Given the description of an element on the screen output the (x, y) to click on. 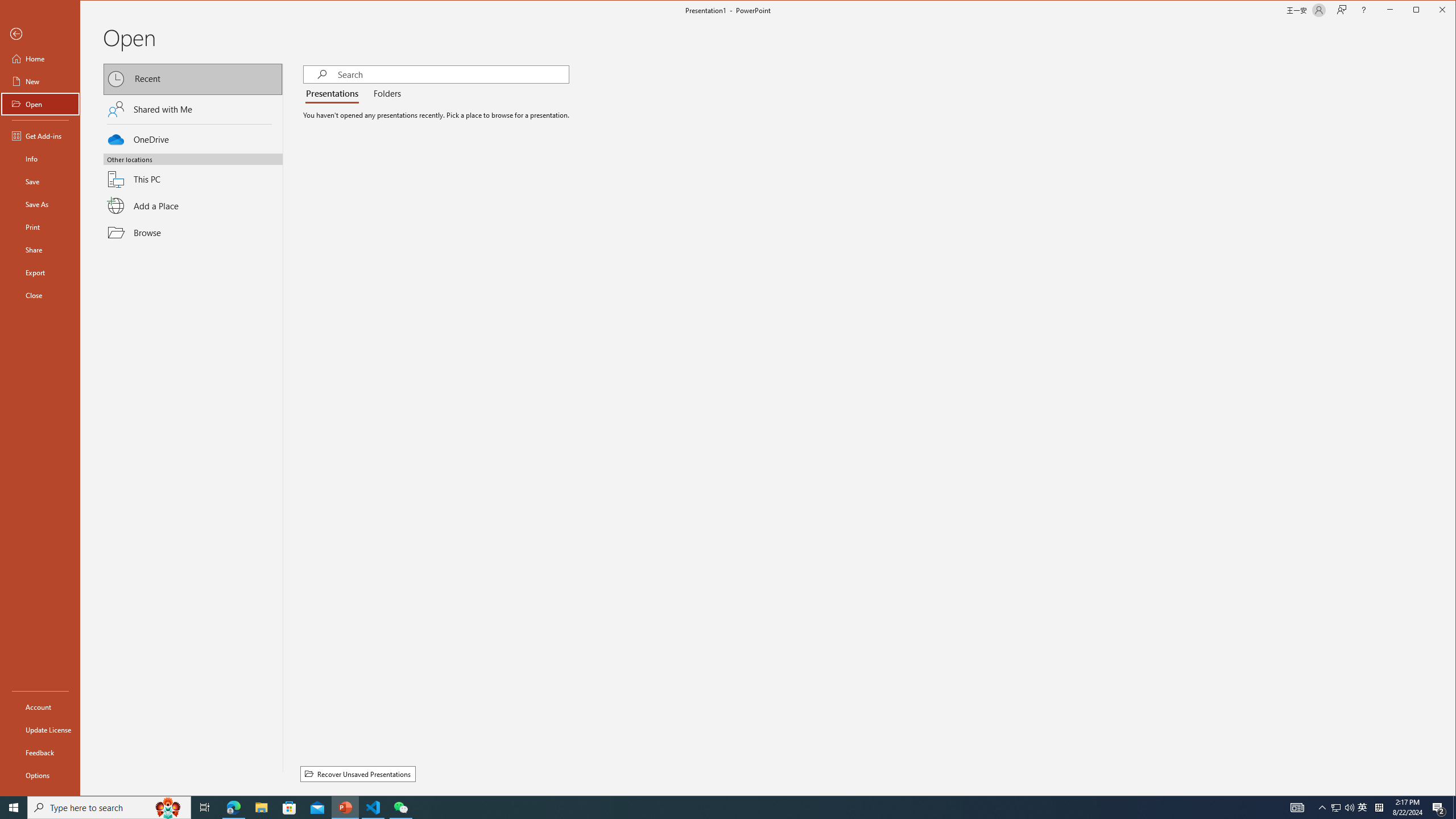
Browse (193, 232)
Account (40, 706)
Add a Place (193, 205)
WeChat - 1 running window (400, 807)
Running applications (707, 807)
Folders (384, 94)
Presentations (333, 94)
